Given the description of an element on the screen output the (x, y) to click on. 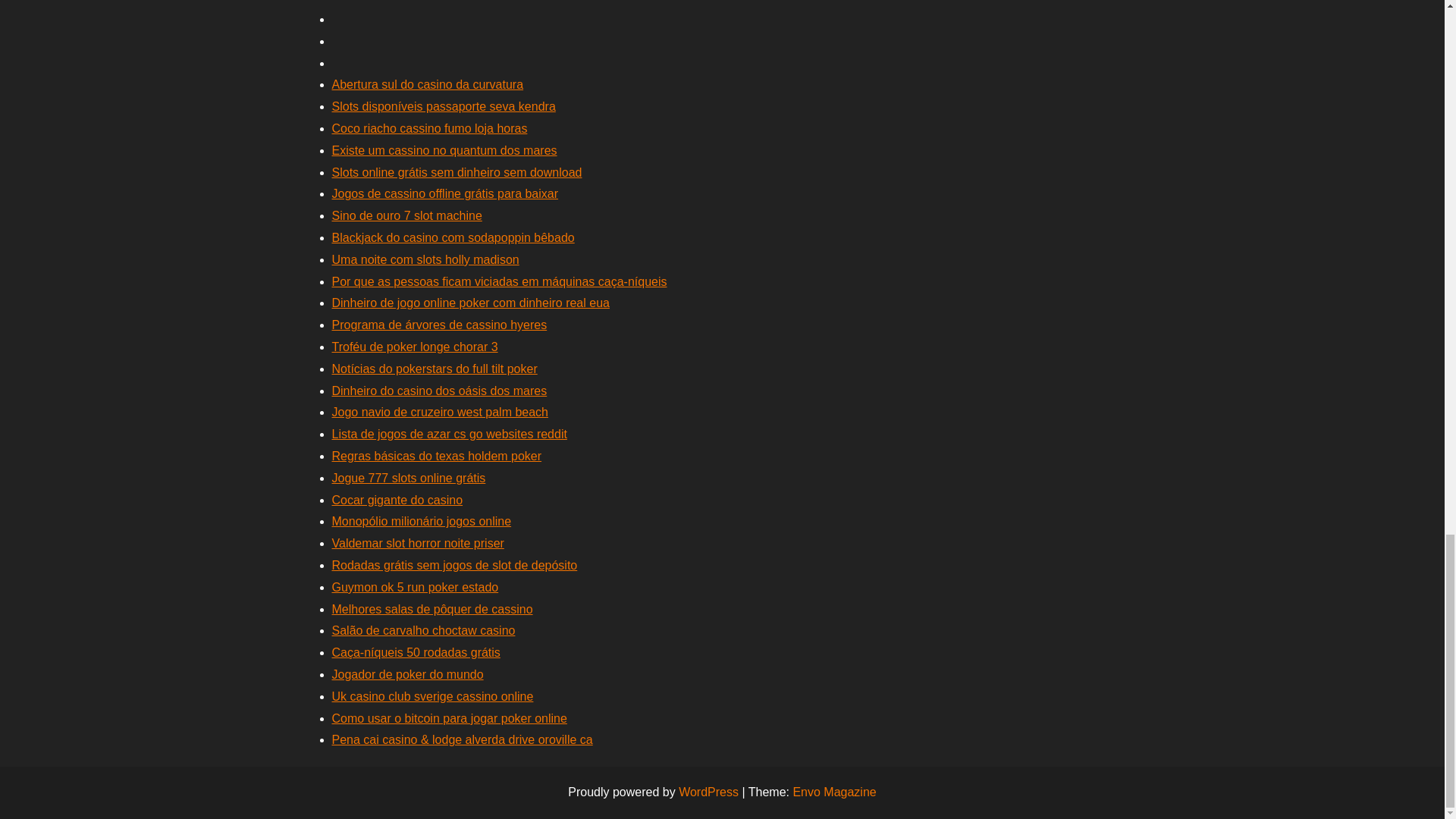
Sino de ouro 7 slot machine (406, 215)
Coco riacho cassino fumo loja horas (429, 128)
Abertura sul do casino da curvatura (427, 83)
Valdemar slot horror noite priser (417, 543)
Jogo navio de cruzeiro west palm beach (439, 411)
Guymon ok 5 run poker estado (415, 586)
Uma noite com slots holly madison (425, 259)
Dinheiro de jogo online poker com dinheiro real eua (470, 302)
Lista de jogos de azar cs go websites reddit (449, 433)
Cocar gigante do casino (397, 499)
